Given the description of an element on the screen output the (x, y) to click on. 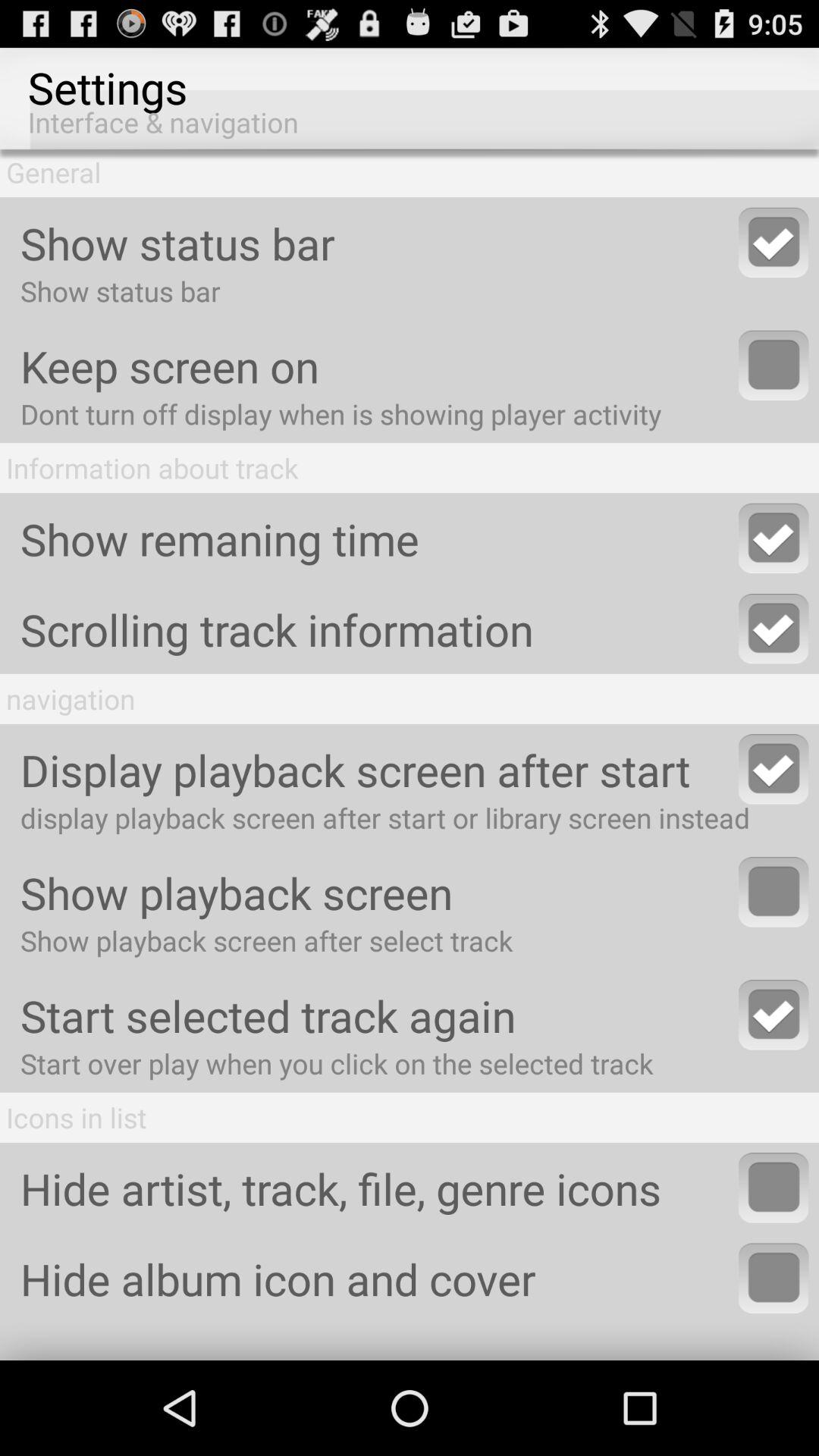
select option (773, 1014)
